Given the description of an element on the screen output the (x, y) to click on. 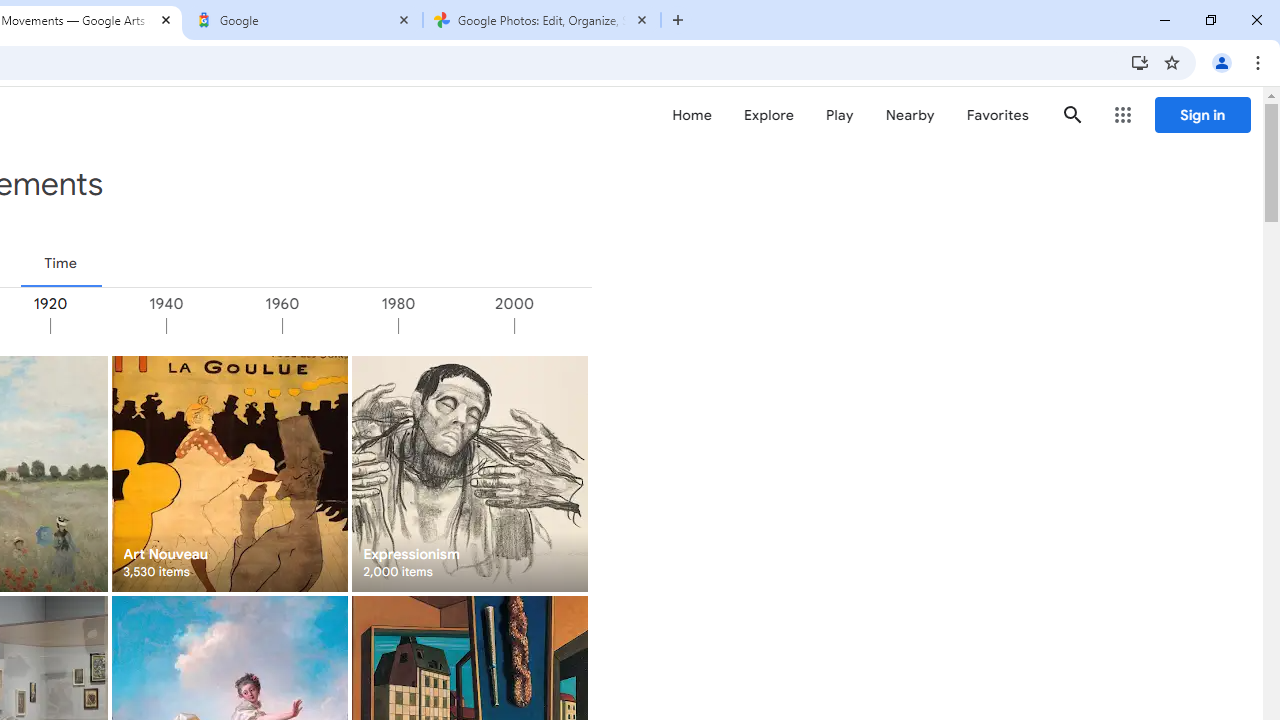
Nearby (910, 115)
1980 (455, 326)
Expressionism 2,000 items (468, 473)
1940 (223, 326)
Google (304, 20)
Install Google Arts & Culture (1139, 62)
Time (60, 263)
